Given the description of an element on the screen output the (x, y) to click on. 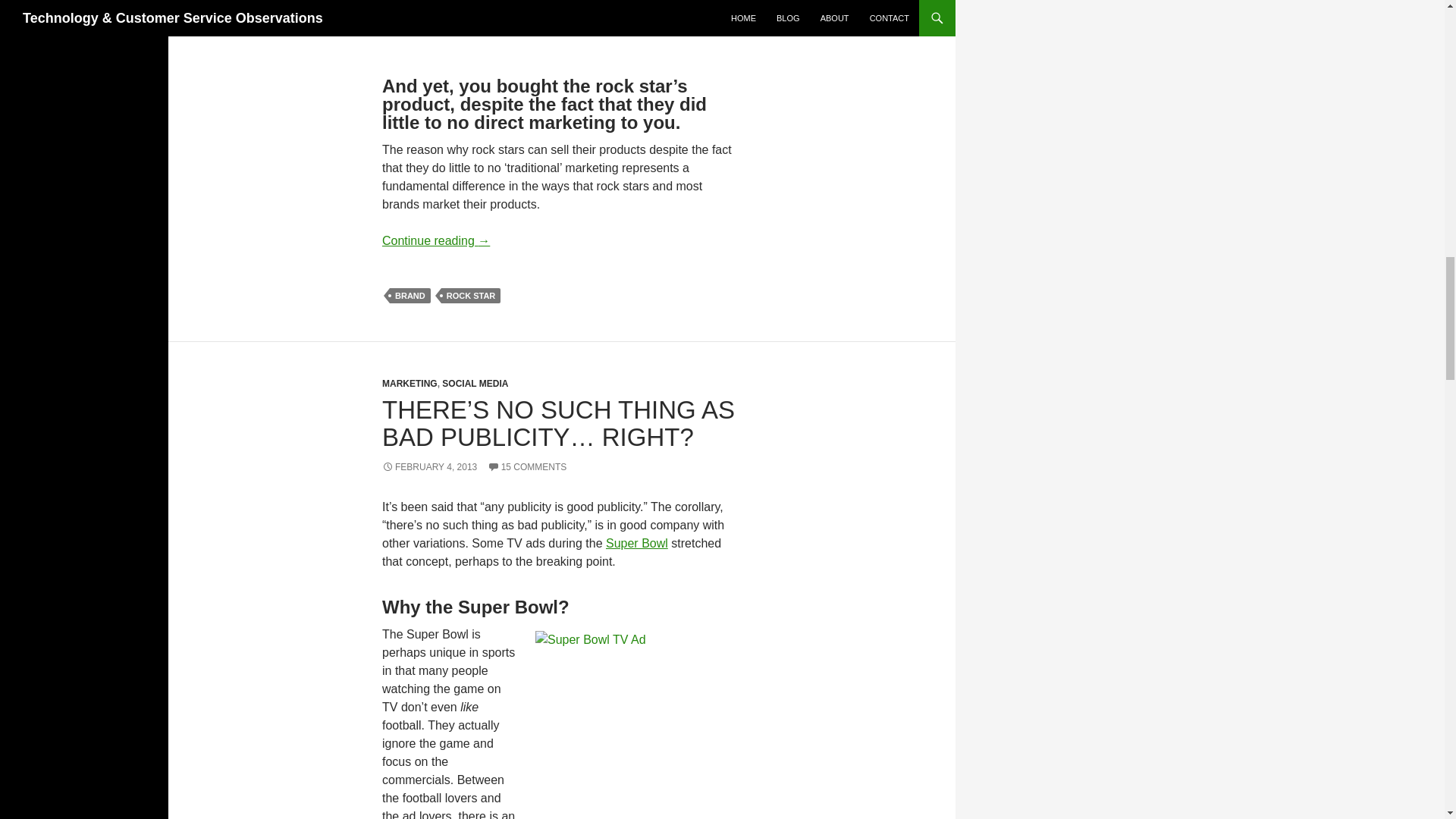
Rock Star (741, 36)
Super Bowl TV Ad (702, 724)
Super Bowl (636, 543)
